Given the description of an element on the screen output the (x, y) to click on. 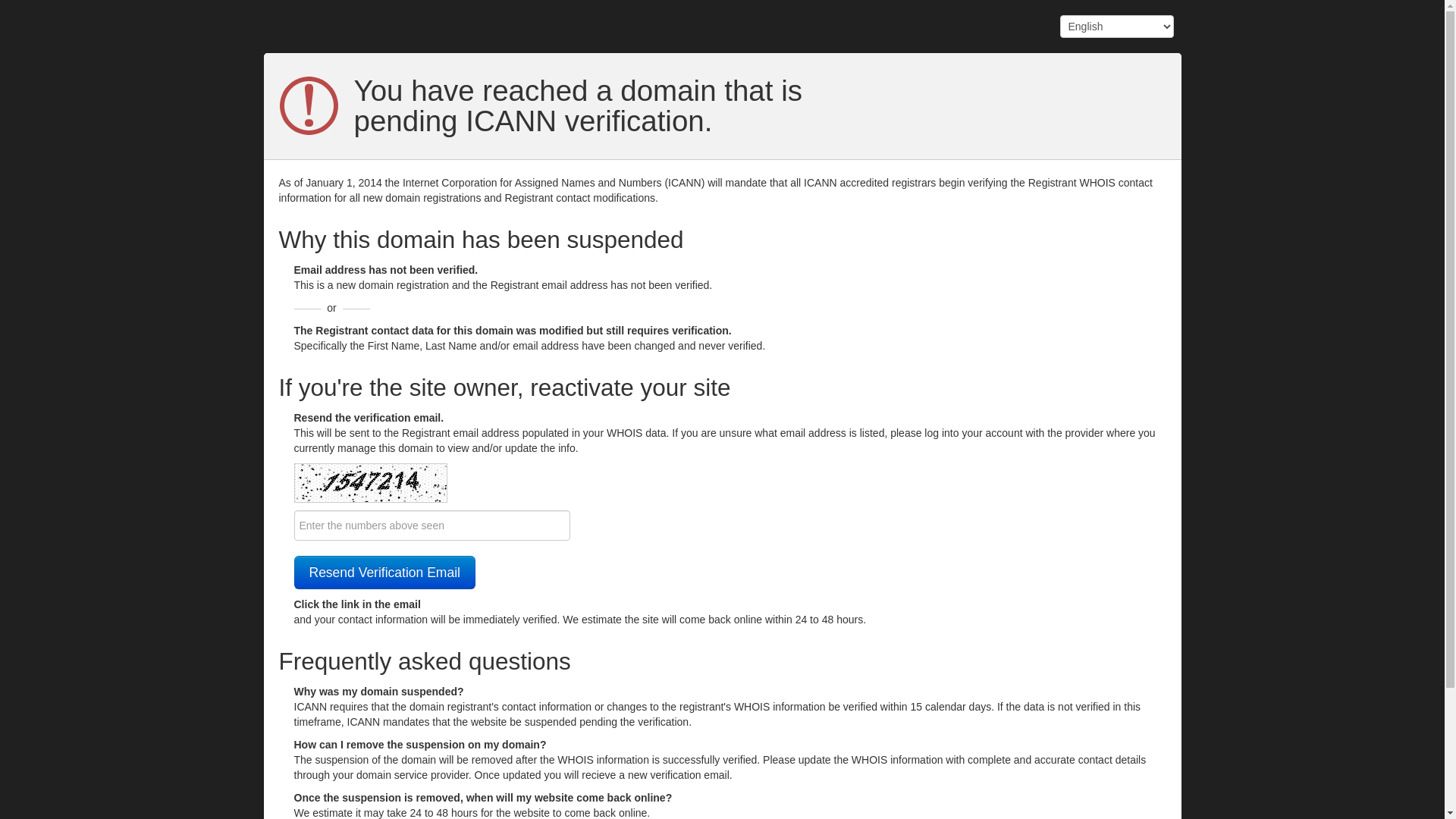
Resend Verification Email Element type: text (384, 572)
